Given the description of an element on the screen output the (x, y) to click on. 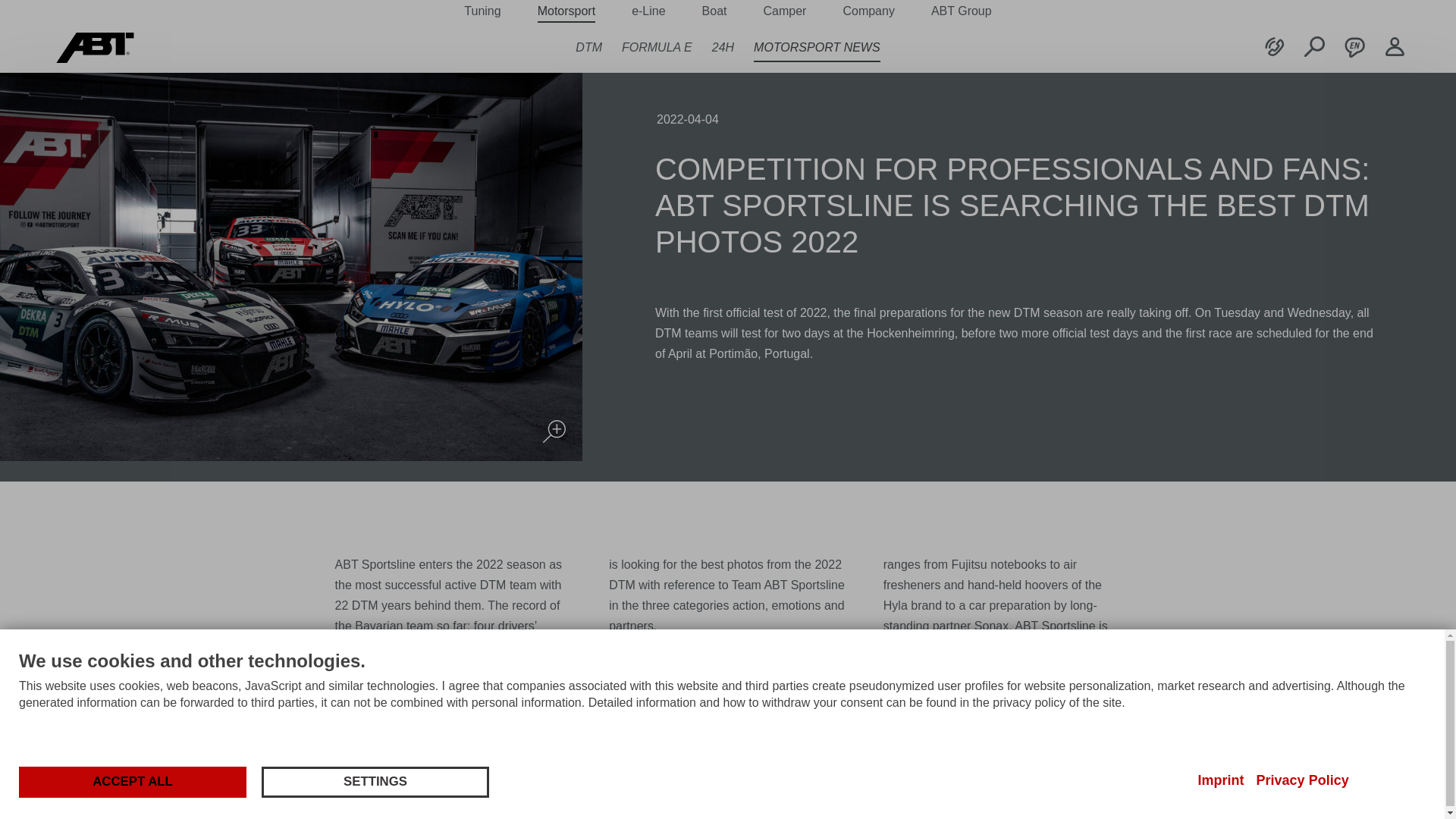
MOTORSPORT NEWS (817, 47)
ABT Group (961, 11)
FORMULA E (657, 47)
Company (868, 11)
Boat (713, 11)
DTM (588, 47)
Motorsport (566, 11)
Tuning (482, 11)
Camper (784, 11)
